Given the description of an element on the screen output the (x, y) to click on. 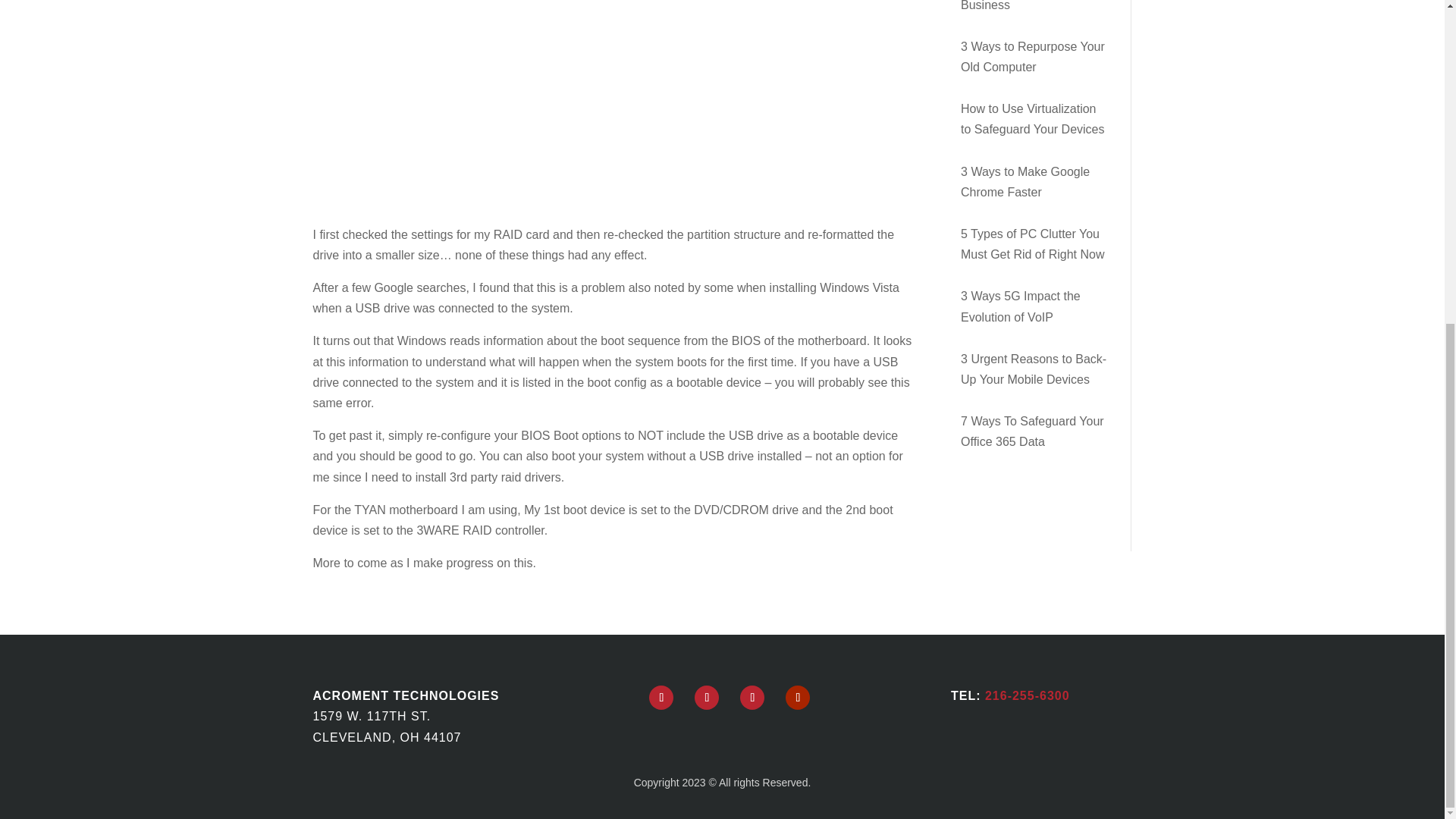
Follow on Facebook (660, 697)
Follow on Youtube (797, 697)
Follow on LinkedIn (751, 697)
Follow on Twitter (706, 697)
